Given the description of an element on the screen output the (x, y) to click on. 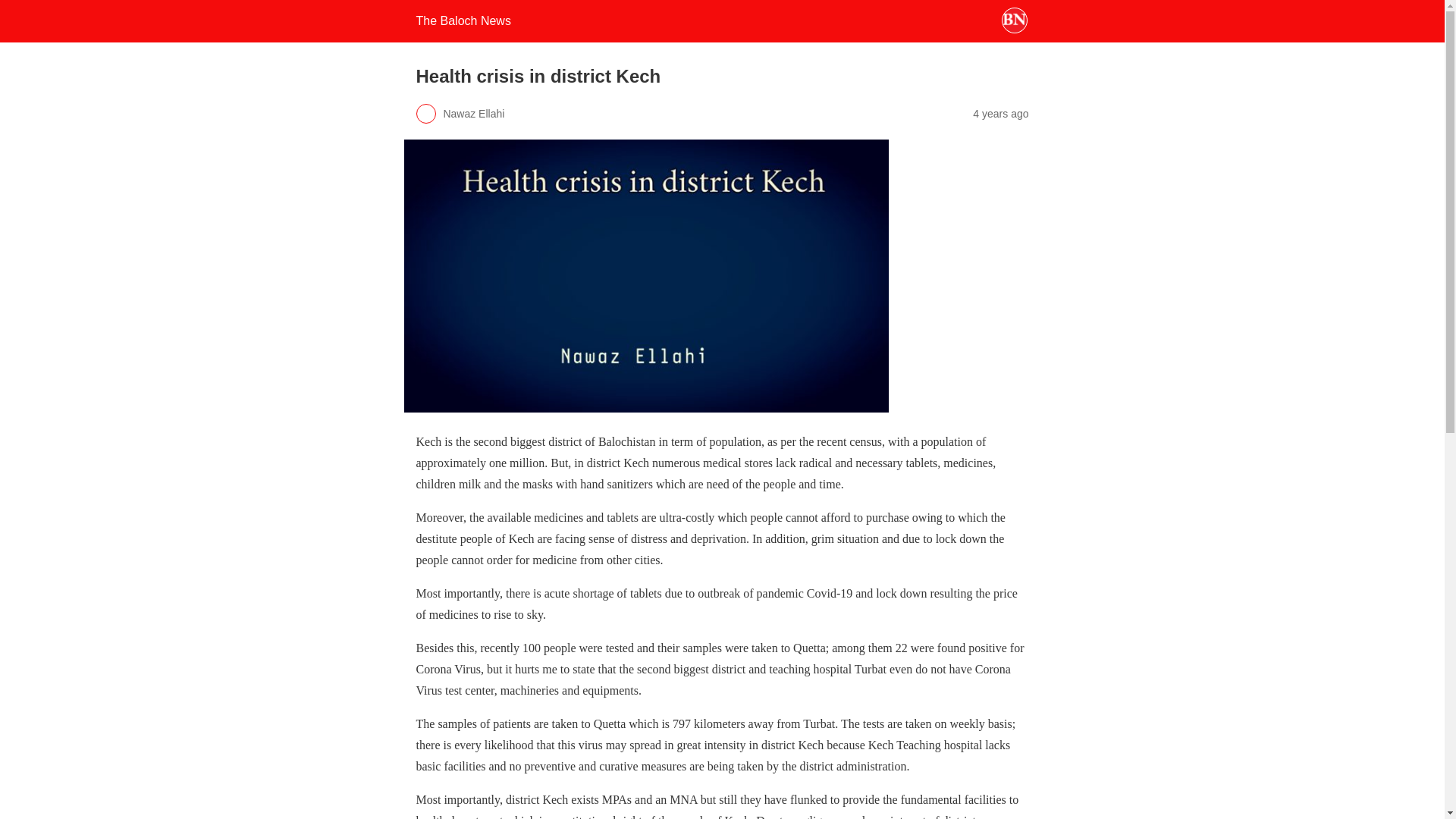
The Baloch News (462, 20)
